Given the description of an element on the screen output the (x, y) to click on. 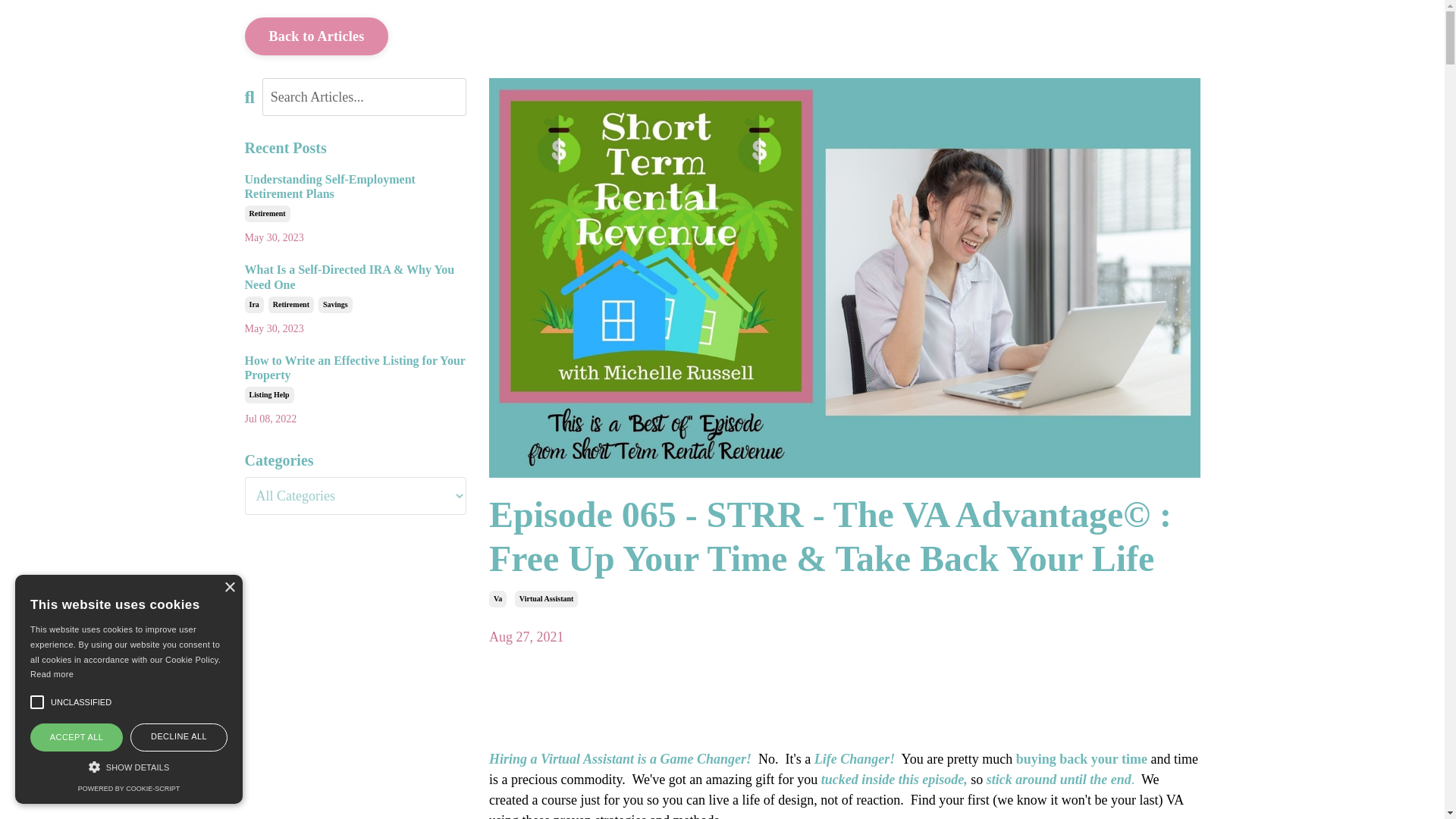
Understanding Self-Employment Retirement Plans (354, 185)
Listing Help (269, 394)
Read more (52, 673)
POWERED BY COOKIE-SCRIPT (128, 788)
Savings (335, 304)
Retirement (266, 213)
How to Write an Effective Listing for Your Property (354, 367)
Back to Articles (316, 36)
Virtual Assistant (546, 598)
Ira (253, 304)
Retirement (290, 304)
Va (497, 598)
